Given the description of an element on the screen output the (x, y) to click on. 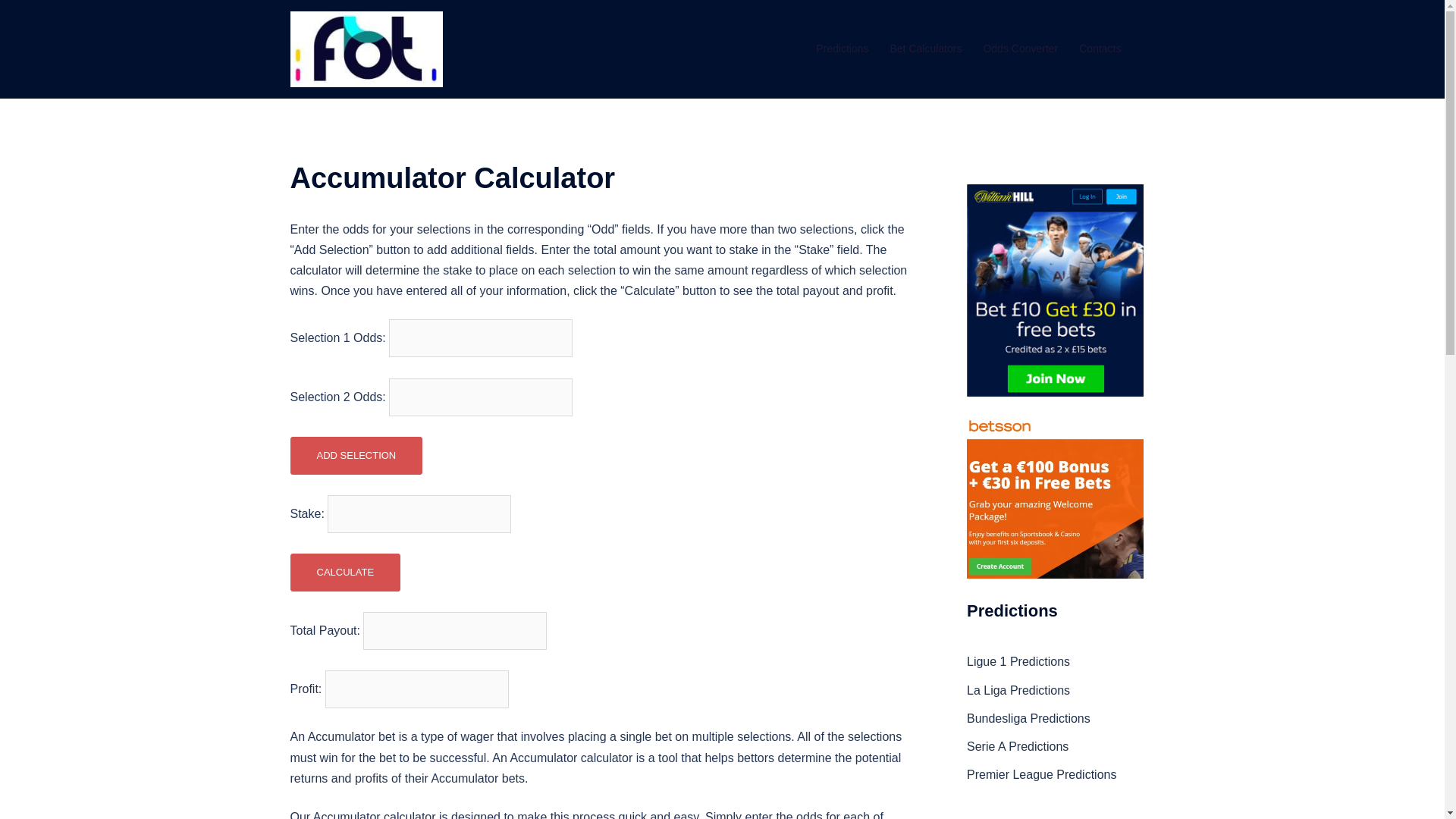
Bet Calculators (924, 49)
Contacts (1099, 49)
CALCULATE (344, 572)
Predictions (841, 49)
Serie A Predictions (1017, 746)
Ligue 1 Predictions (1018, 661)
Today's Betting Tips (365, 47)
Premier League Predictions (1041, 774)
La Liga Predictions (1018, 689)
ADD SELECTION (355, 455)
Bundesliga Predictions (1028, 717)
Odds Converter (1020, 49)
